Given the description of an element on the screen output the (x, y) to click on. 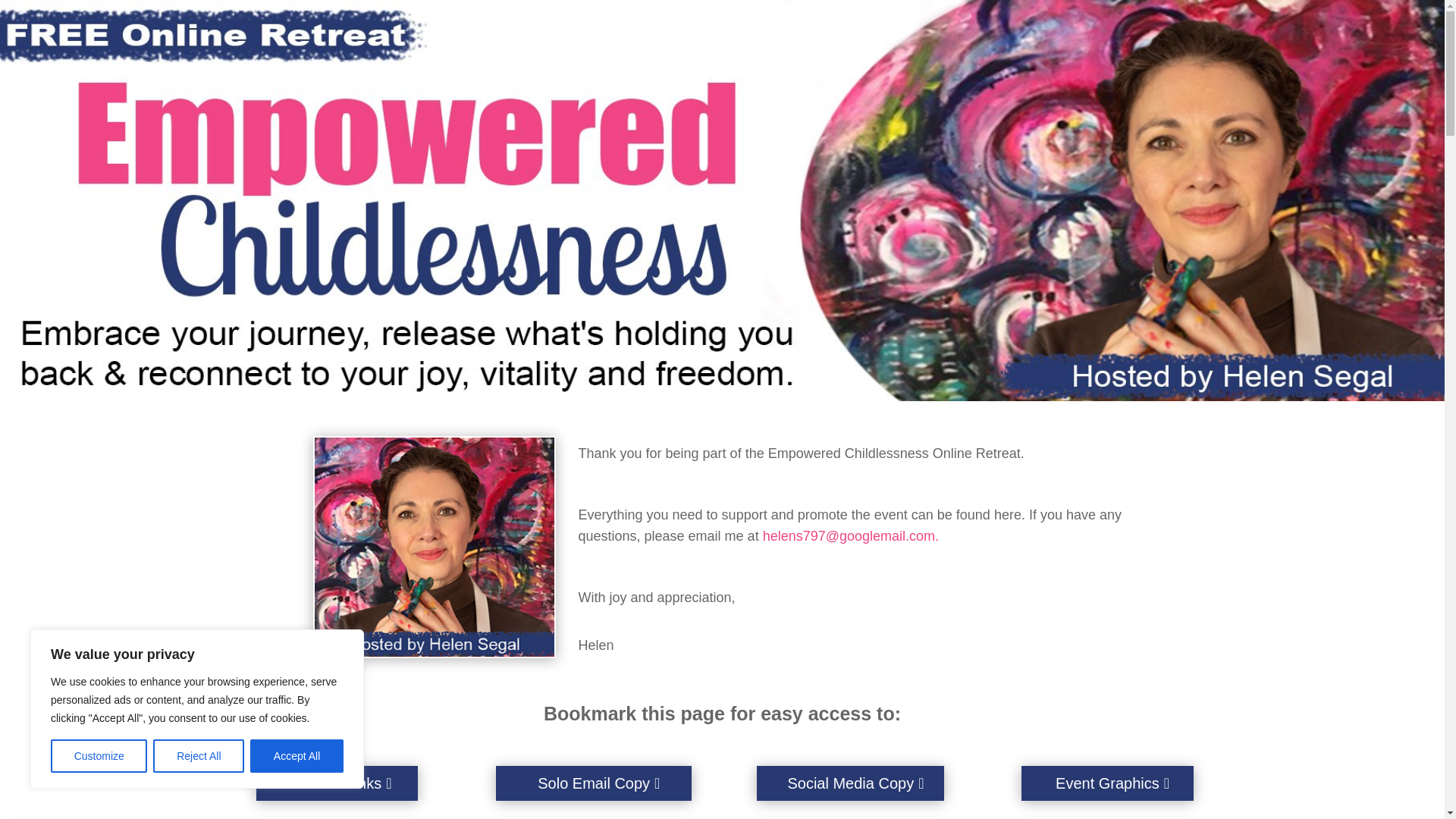
Social Media Copy (850, 782)
Affiliate Links (336, 782)
Customize (98, 756)
Reject All (198, 756)
Solo Email Copy (593, 782)
Accept All (296, 756)
Event Graphics (1107, 782)
